Given the description of an element on the screen output the (x, y) to click on. 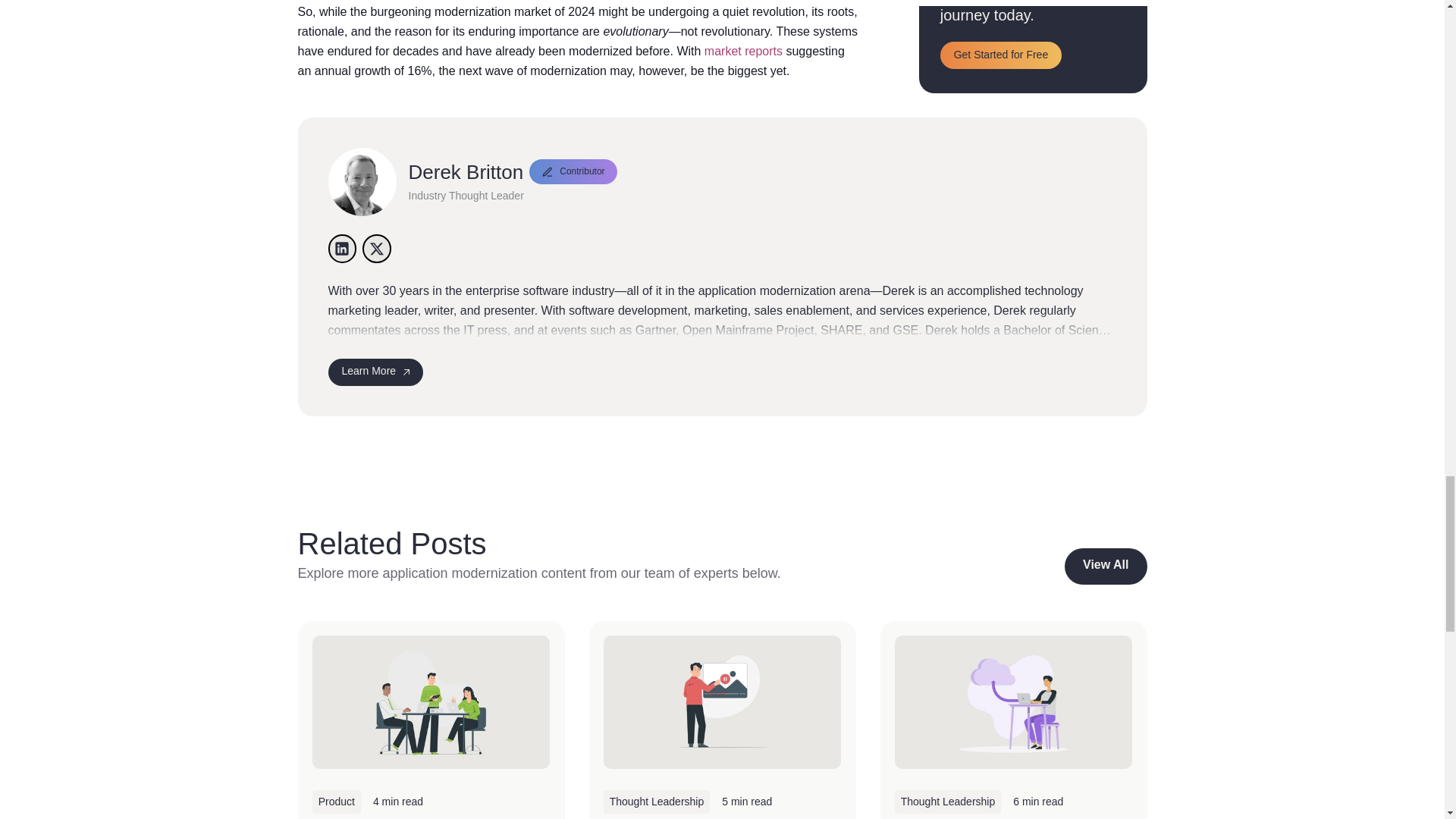
market reports (743, 51)
